Given the description of an element on the screen output the (x, y) to click on. 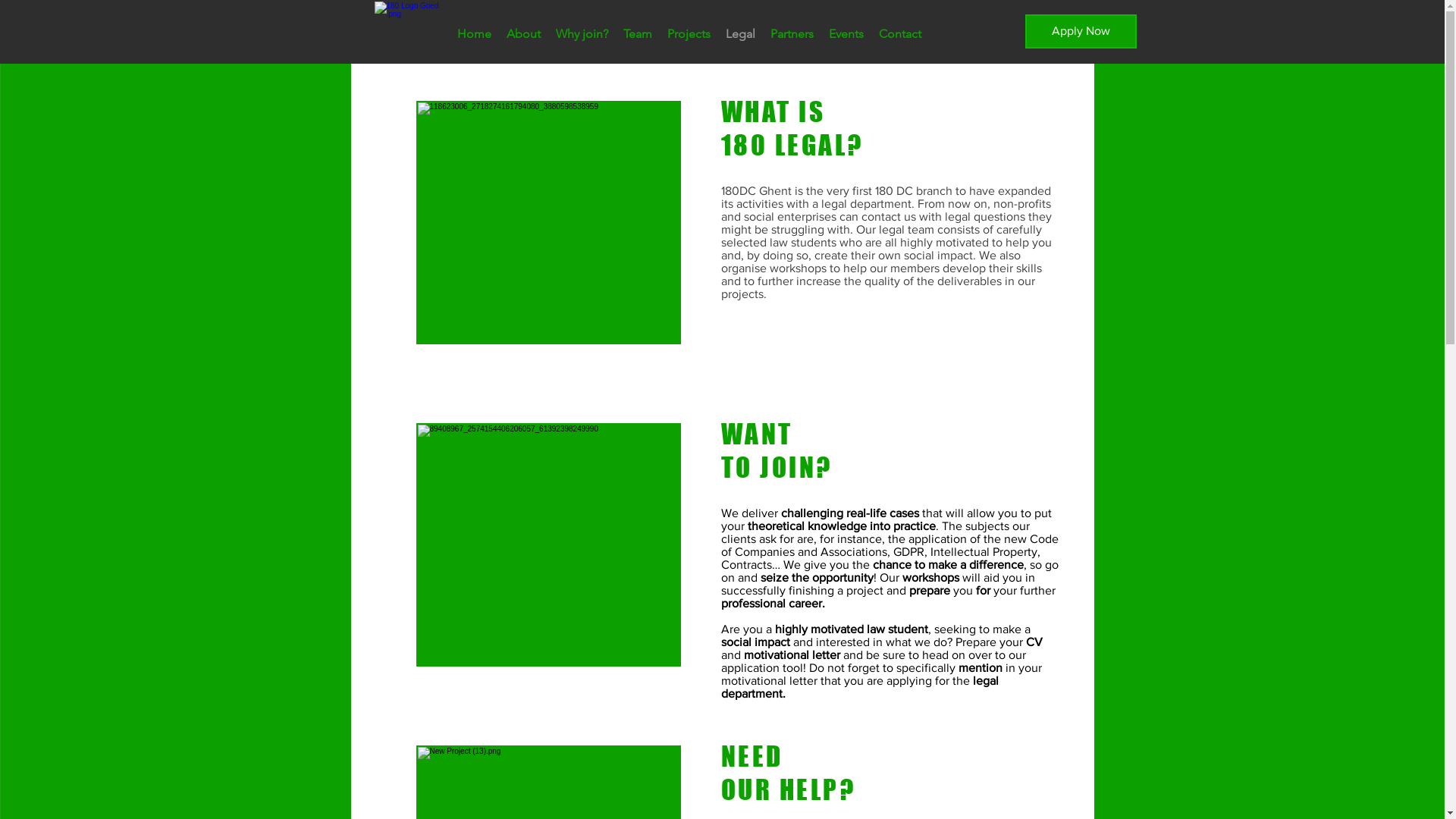
Apply Now Element type: text (1080, 31)
Why join? Element type: text (581, 34)
About Element type: text (523, 34)
Events Element type: text (845, 34)
Legal Element type: text (739, 34)
Projects Element type: text (688, 34)
Partners Element type: text (791, 34)
Home Element type: text (473, 34)
Team Element type: text (637, 34)
Contact Element type: text (899, 34)
